Given the description of an element on the screen output the (x, y) to click on. 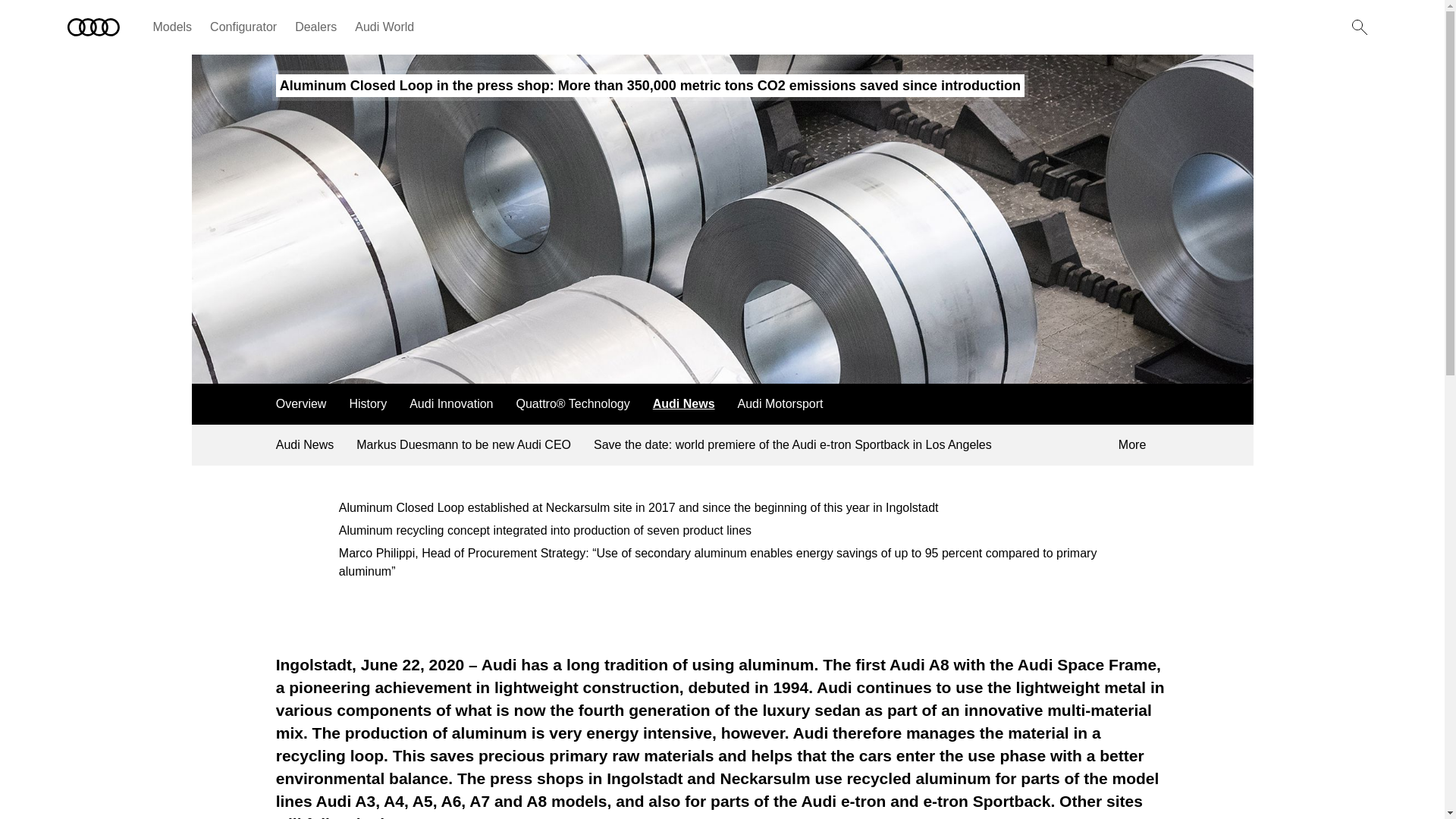
Overview (300, 404)
Audi Innovation (450, 404)
Configurator (242, 27)
Audi (92, 27)
Audi (92, 27)
Audi News (304, 445)
Audi News (684, 404)
History (367, 404)
Dealers (315, 27)
Models (172, 27)
Markus Duesmann to be new Audi CEO (463, 445)
Audi World (384, 27)
